Given the description of an element on the screen output the (x, y) to click on. 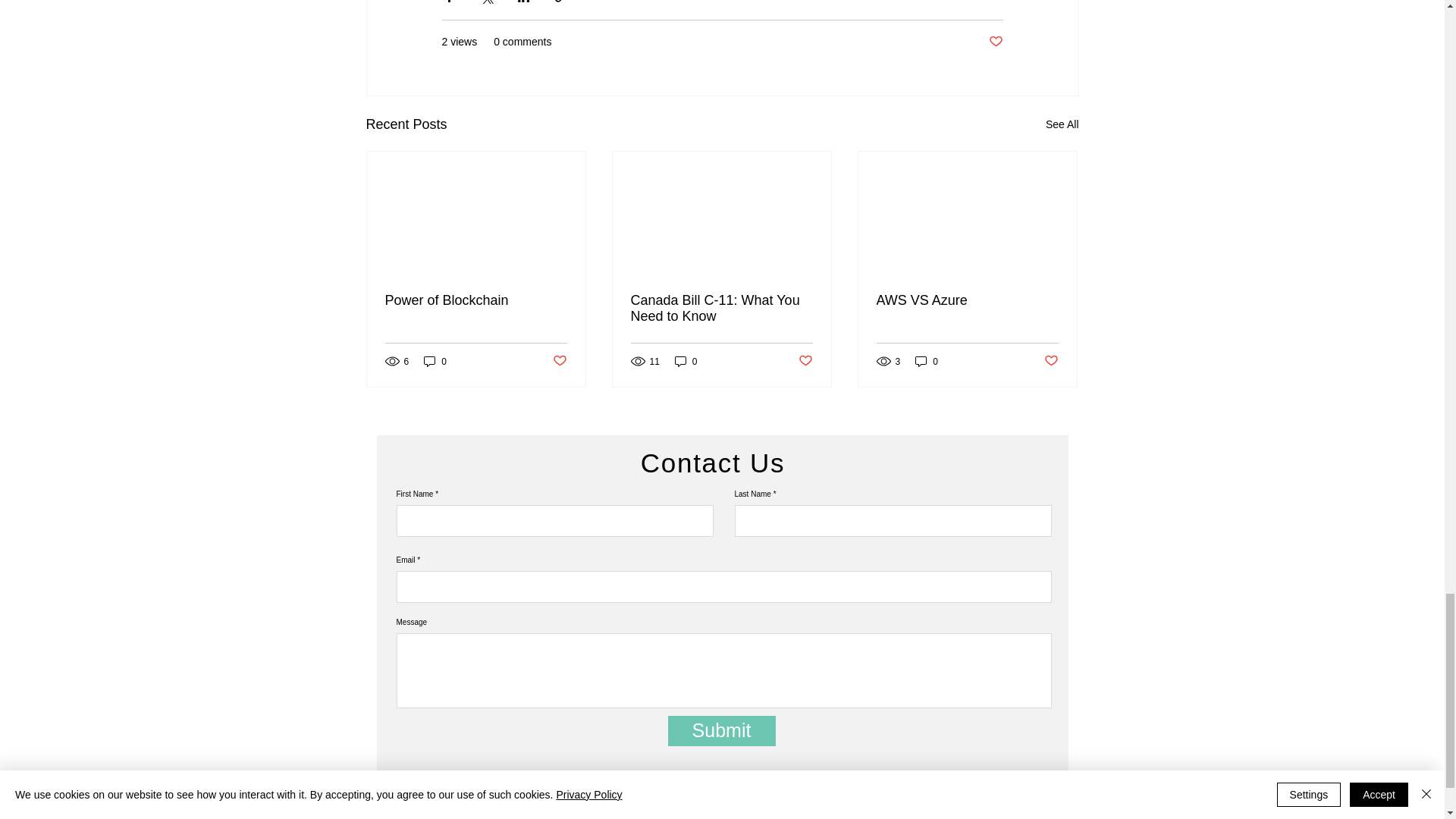
0 (435, 360)
Power of Blockchain (476, 300)
Post not marked as liked (995, 41)
Post not marked as liked (558, 360)
See All (1061, 124)
